Given the description of an element on the screen output the (x, y) to click on. 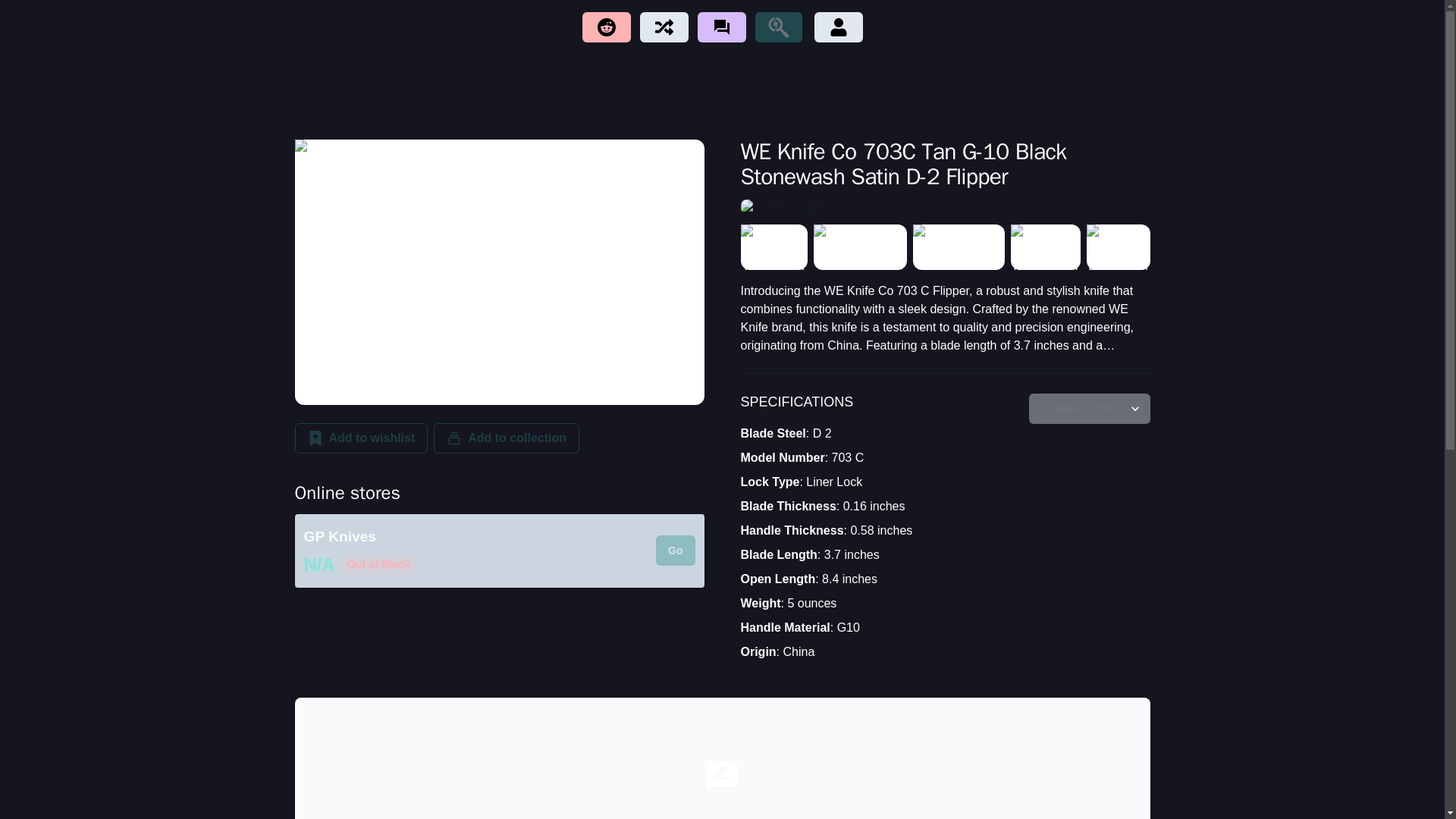
Add to collection (506, 438)
Go (675, 550)
We Knife (944, 206)
Add to wishlist (361, 438)
